Given the description of an element on the screen output the (x, y) to click on. 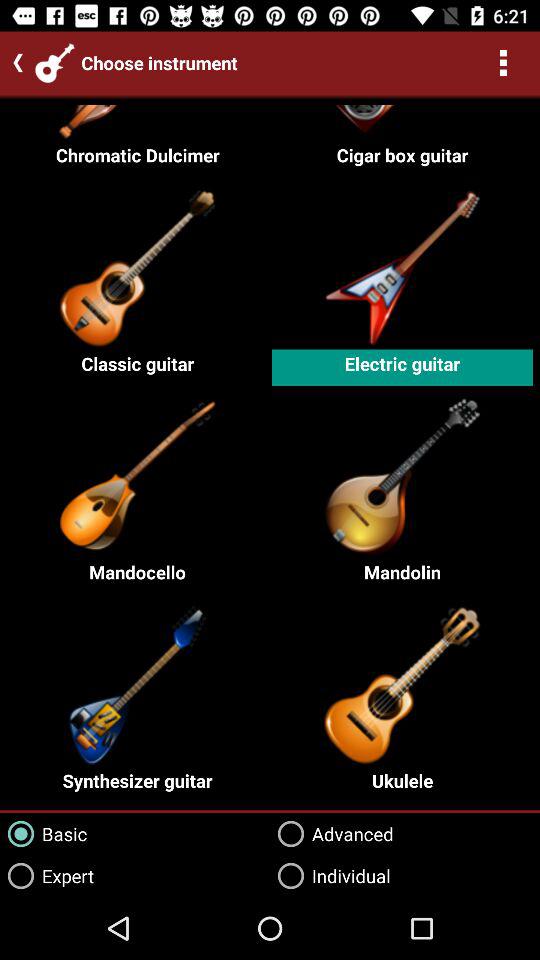
select item below the basic (47, 875)
